Given the description of an element on the screen output the (x, y) to click on. 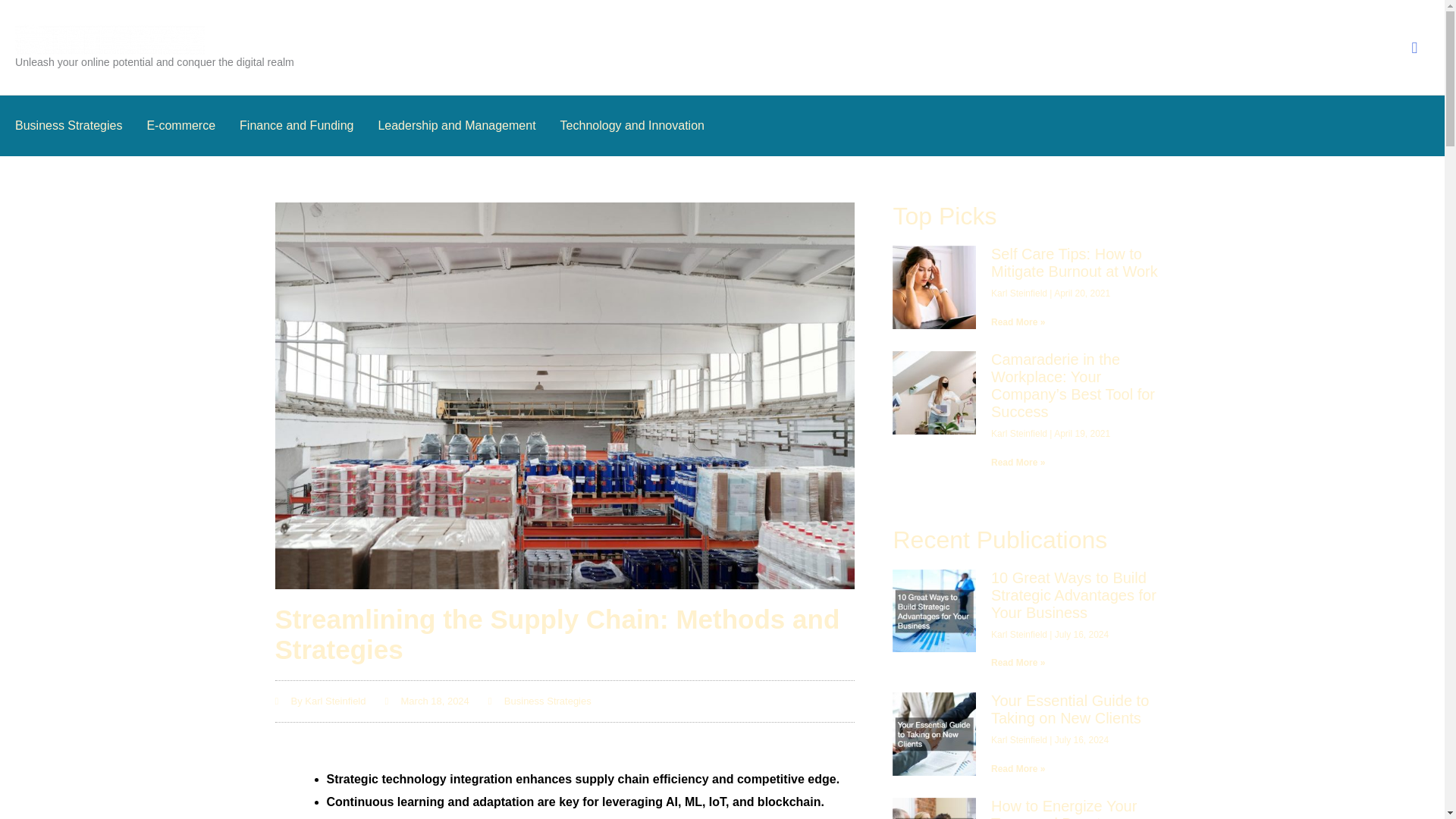
Business Strategies (547, 700)
Your Essential Guide to Taking on New Clients (1069, 709)
Technology and Innovation (632, 125)
Leadership and Management (468, 125)
Finance and Funding (308, 125)
March 18, 2024 (426, 701)
Self Care Tips: How to Mitigate Burnout at Work (1074, 262)
How to Energize Your Team and Boost Workplace Productivity (1067, 808)
Business Strategies (80, 125)
By Karl Steinfield (320, 701)
E-commerce (193, 125)
